Given the description of an element on the screen output the (x, y) to click on. 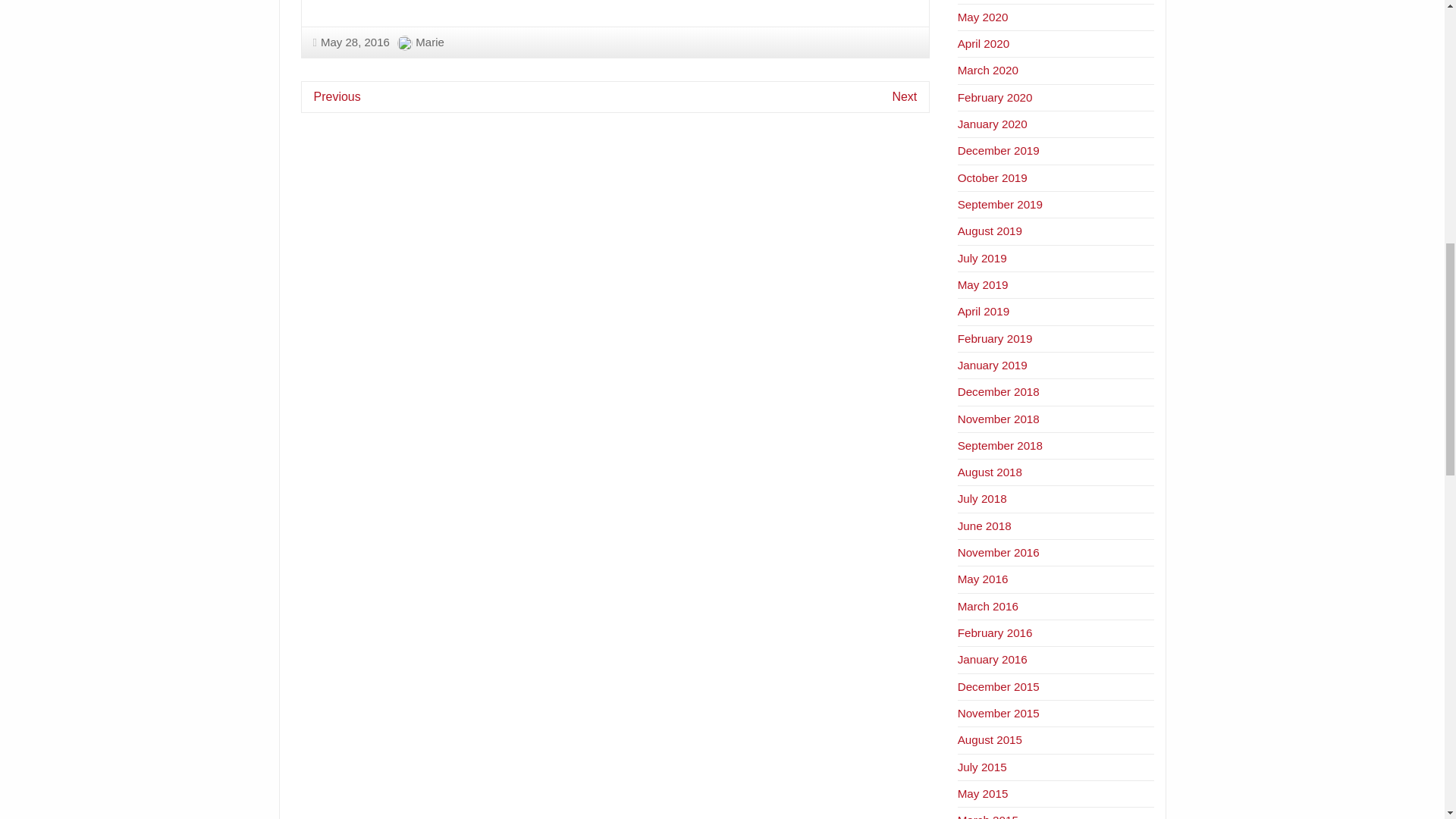
Marie (429, 42)
May 28, 2016 (350, 42)
Next (904, 96)
Previous (337, 96)
